Given the description of an element on the screen output the (x, y) to click on. 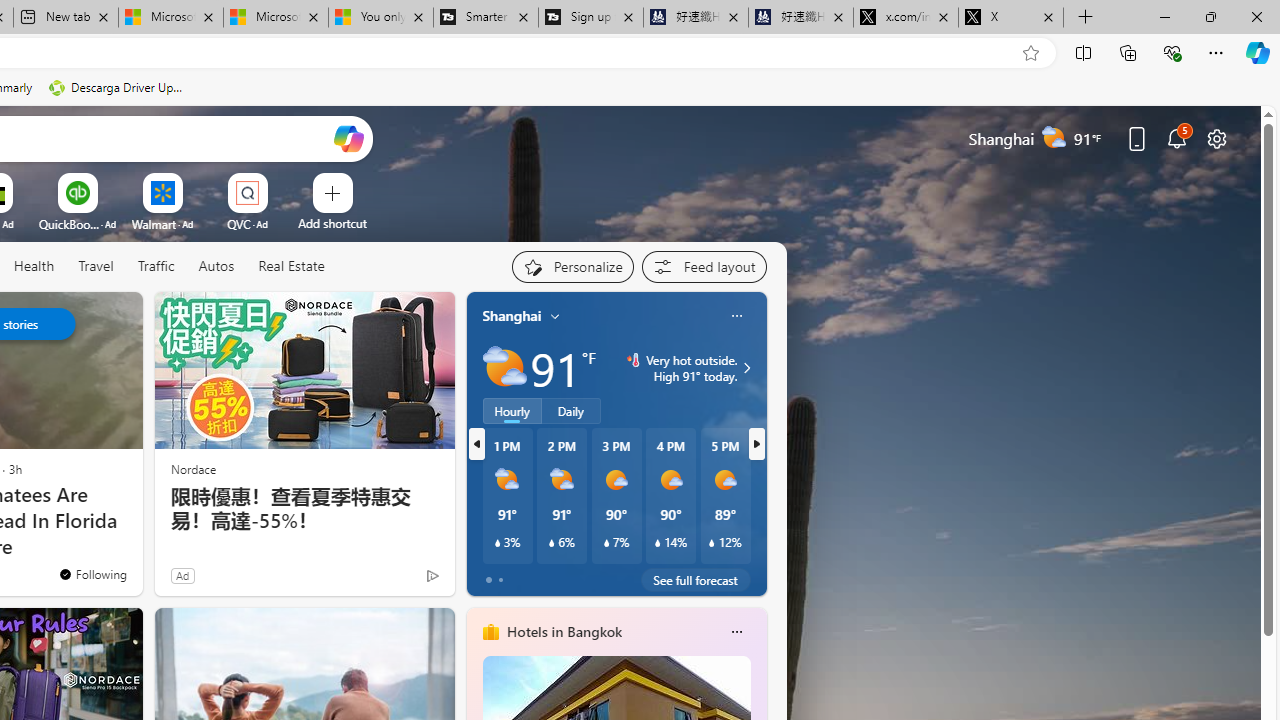
Traffic (155, 267)
Partly sunny (504, 368)
Health (33, 267)
Descarga Driver Updater (118, 88)
See full forecast (695, 579)
Add a site (332, 223)
Class: weather-arrow-glyph (746, 367)
